Given the description of an element on the screen output the (x, y) to click on. 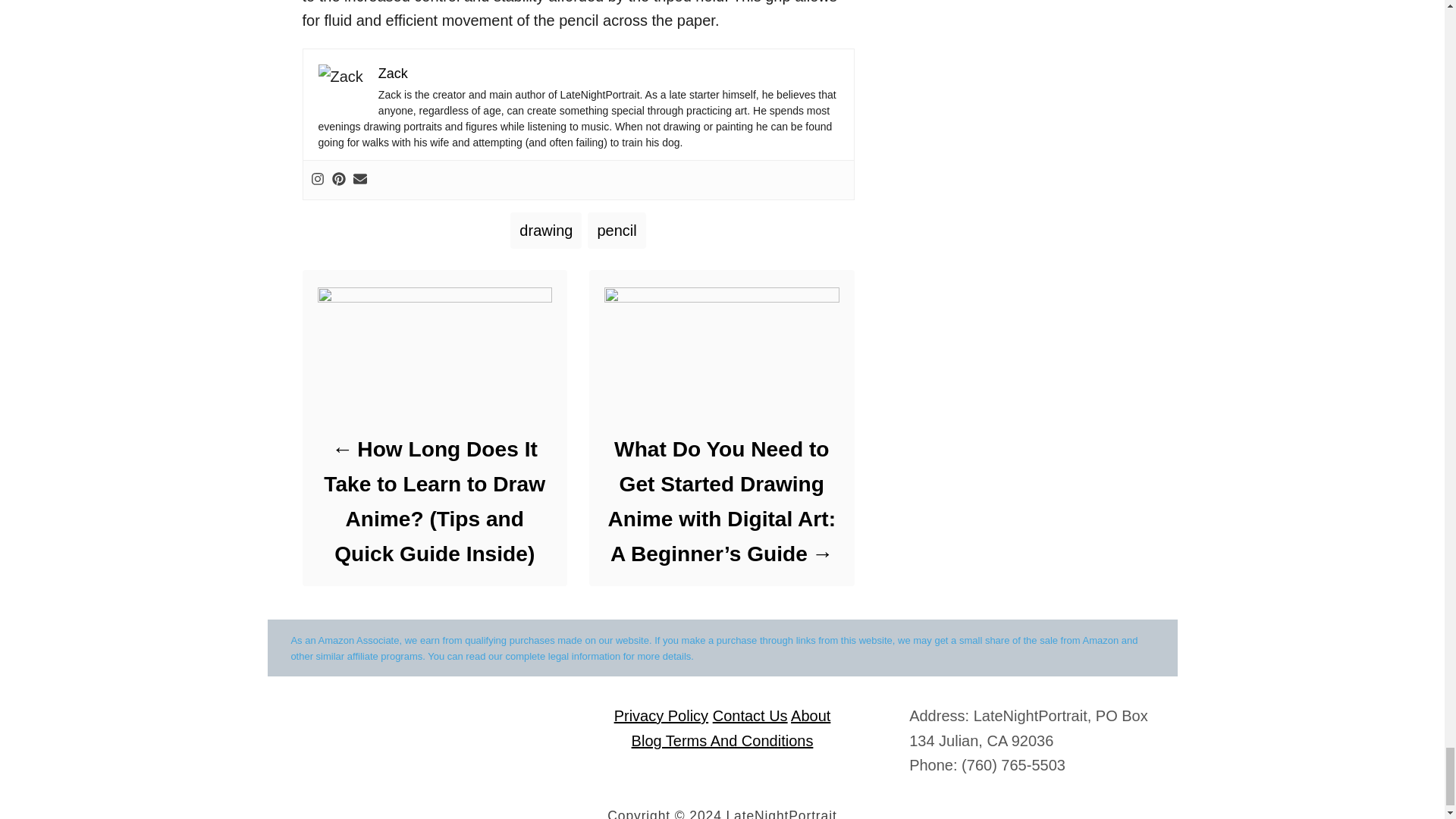
Zack (392, 73)
